Given the description of an element on the screen output the (x, y) to click on. 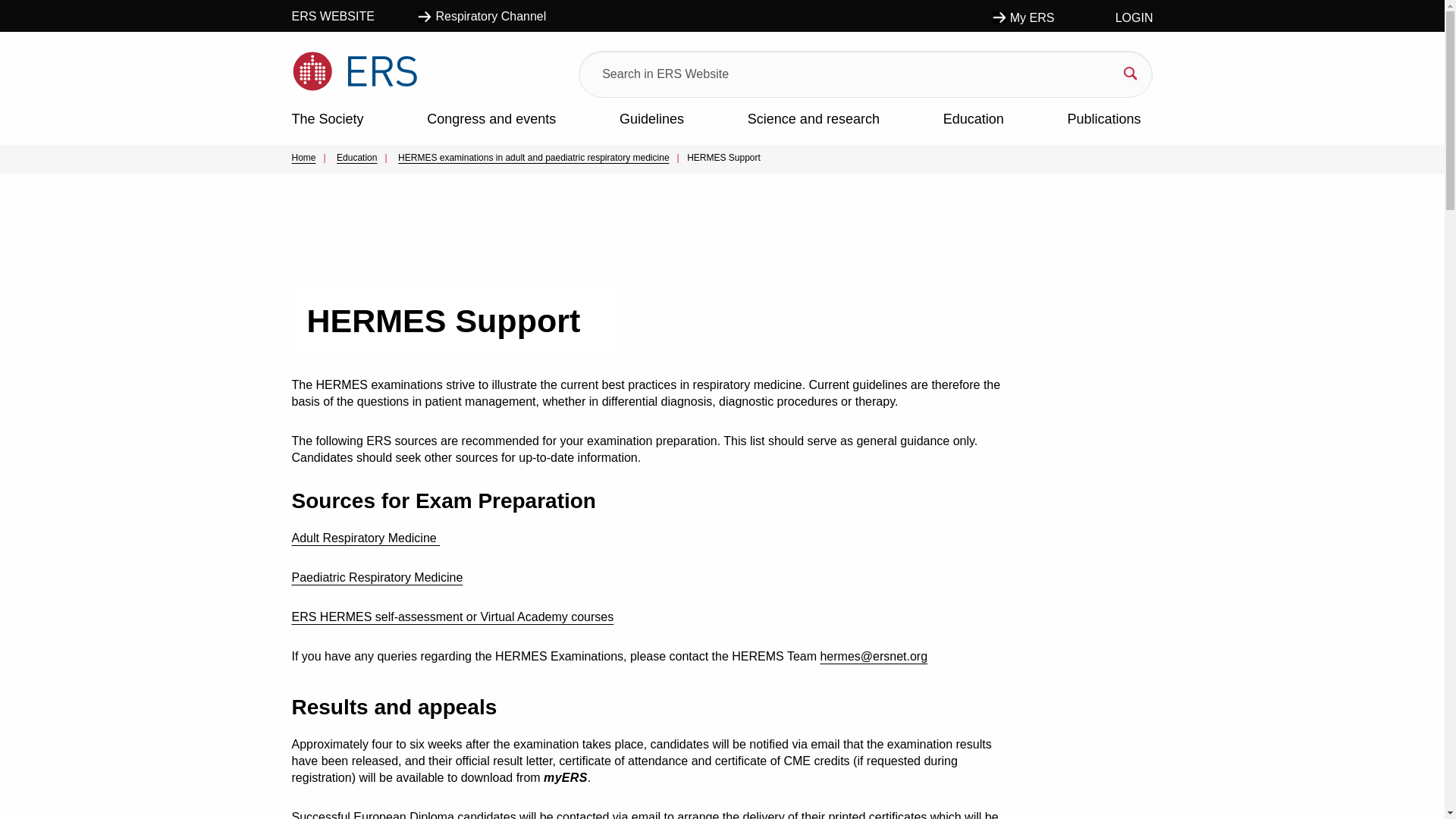
The Society (326, 122)
ERS WEBSITE (343, 15)
My ERS (1023, 15)
Submit (850, 73)
Respiratory Channel (481, 15)
LOGIN (1123, 17)
Submit (850, 73)
